Given the description of an element on the screen output the (x, y) to click on. 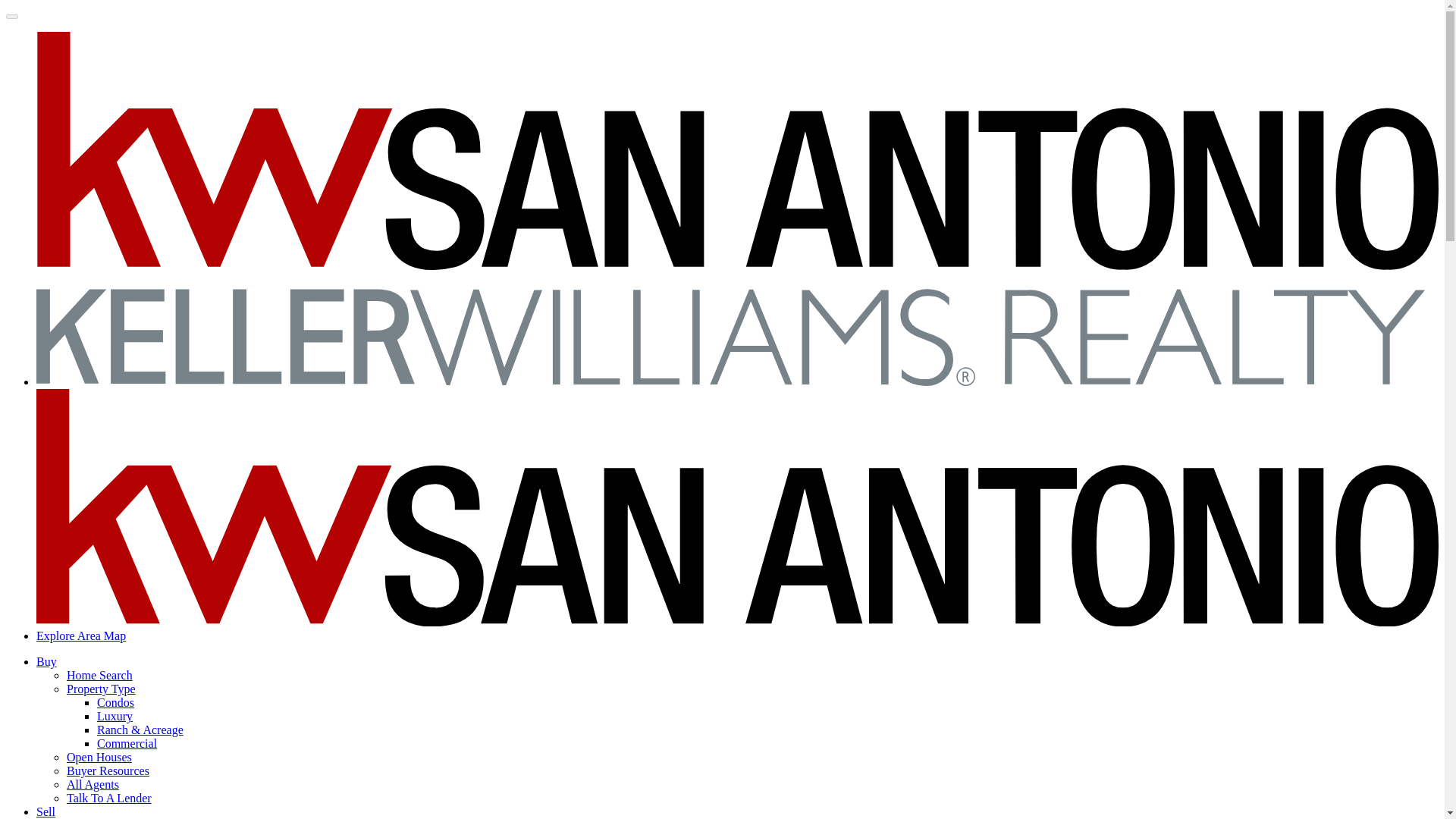
Property Type (100, 688)
Sell (45, 811)
Open Houses (99, 757)
Buy (46, 661)
Buyer Resources (107, 770)
Explore Area Map (80, 635)
Luxury (114, 716)
Condos (115, 702)
Talk To A Lender (108, 797)
Home Search (99, 675)
Commercial (127, 743)
All Agents (92, 784)
